Given the description of an element on the screen output the (x, y) to click on. 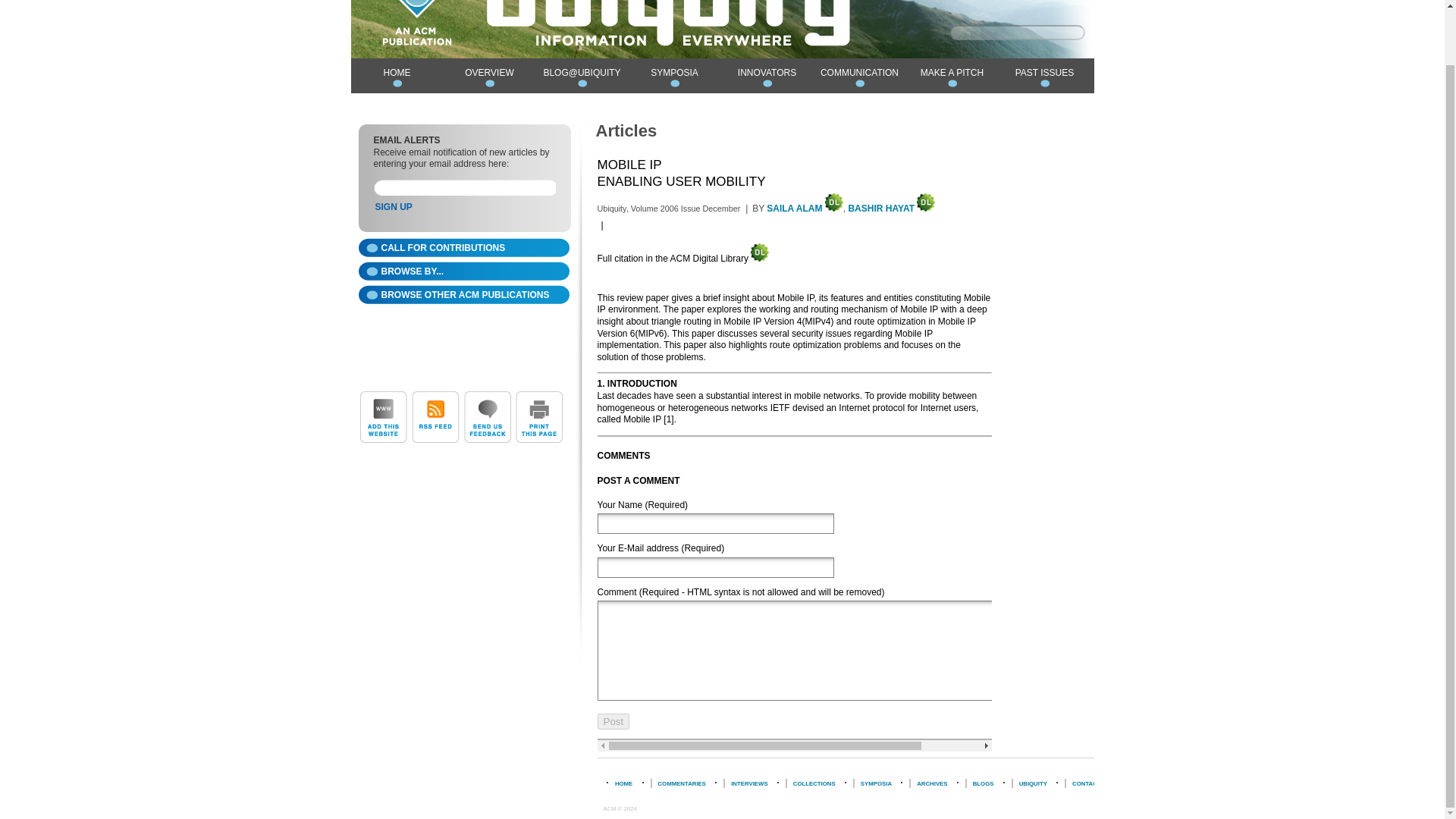
ADD THIS WEBSITE (382, 417)
Post (613, 721)
SYMPOSIA (673, 75)
RSS FEED (435, 417)
SEND US FEEDBACK (487, 417)
BROWSE BY... (463, 273)
PRINT THIS PAGE (540, 417)
HOME (396, 75)
SIGN UP (393, 206)
CALL FOR CONTRIBUTIONS (463, 249)
